Given the description of an element on the screen output the (x, y) to click on. 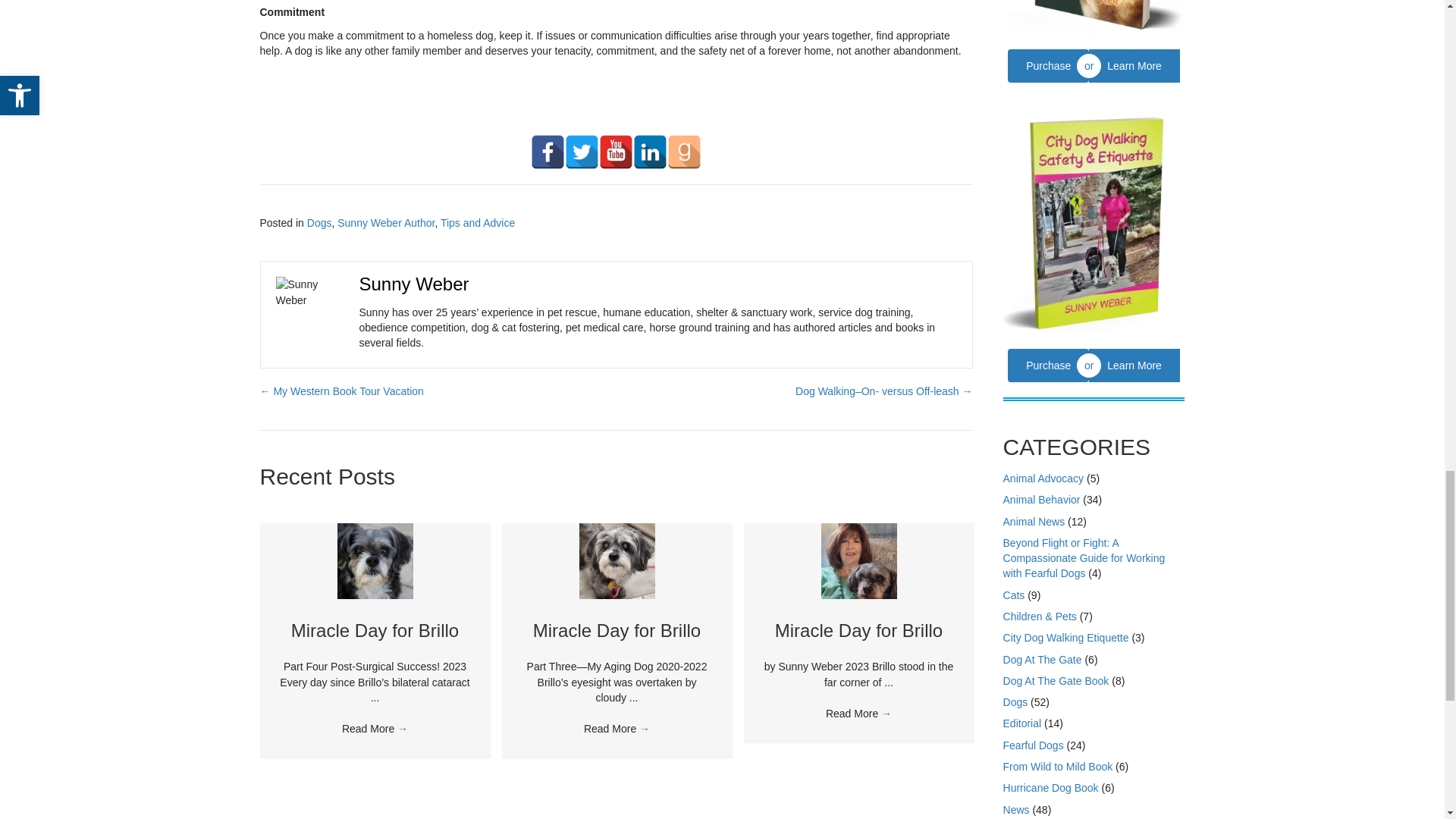
Read More (374, 728)
Miracle Day for Brillo (374, 559)
Miracle Day for Brillo (617, 559)
Read More (616, 728)
Miracle Day for Brillo (616, 629)
Miracle Day for Brillo (374, 629)
